Given the description of an element on the screen output the (x, y) to click on. 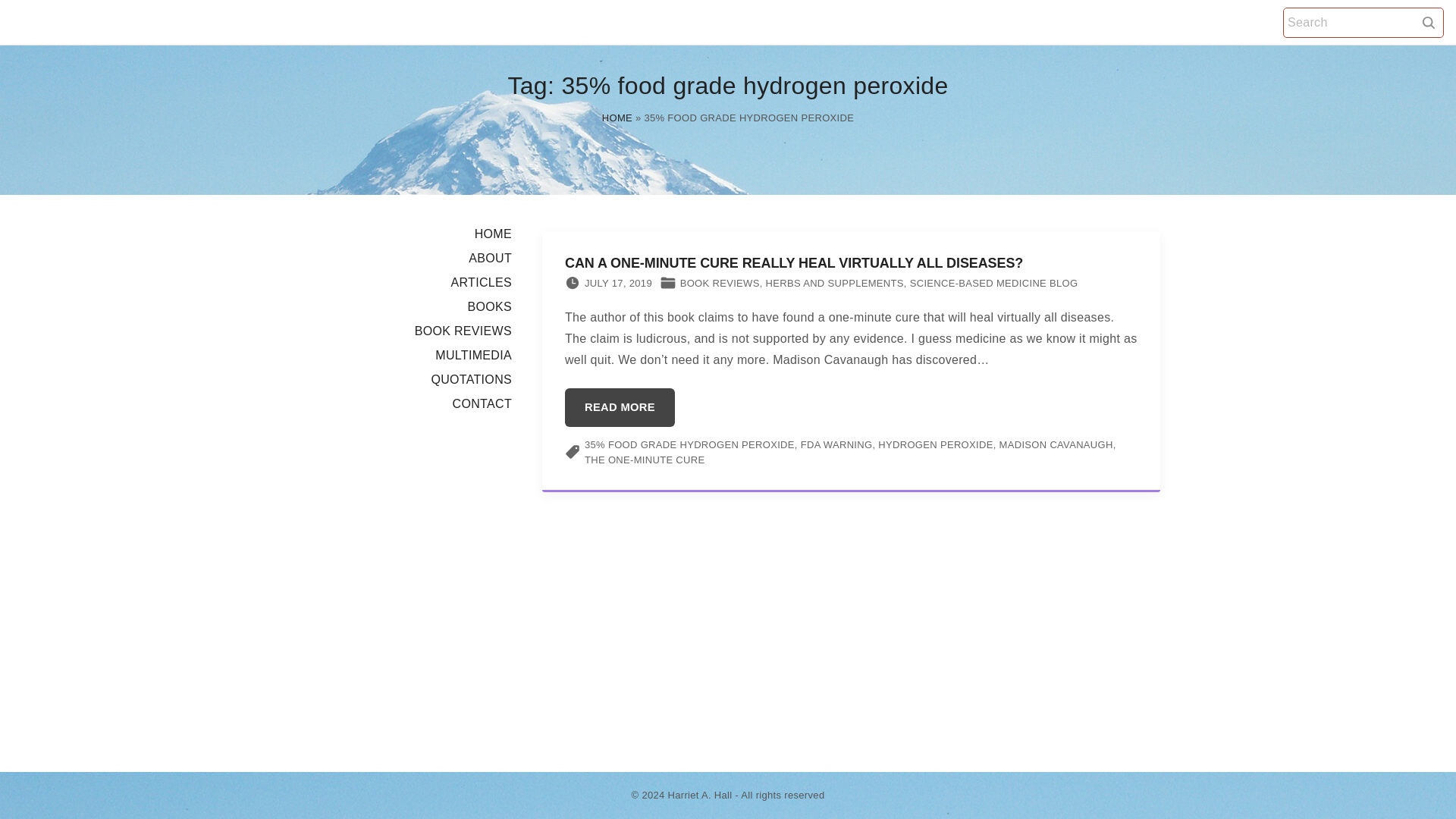
ABOUT (490, 257)
HYDROGEN PEROXIDE (934, 444)
FDA WARNING (836, 444)
HOME (616, 117)
CONTACT (482, 403)
HERBS AND SUPPLEMENTS (834, 283)
SCIENCE-BASED MEDICINE BLOG (994, 283)
BOOK REVIEWS (463, 330)
CAN A ONE-MINUTE CURE REALLY HEAL VIRTUALLY ALL DISEASES? (793, 263)
BOOK REVIEWS (719, 283)
QUOTATIONS (471, 379)
SEARCH (1428, 21)
HOME (493, 233)
ARTICLES (480, 282)
